Given the description of an element on the screen output the (x, y) to click on. 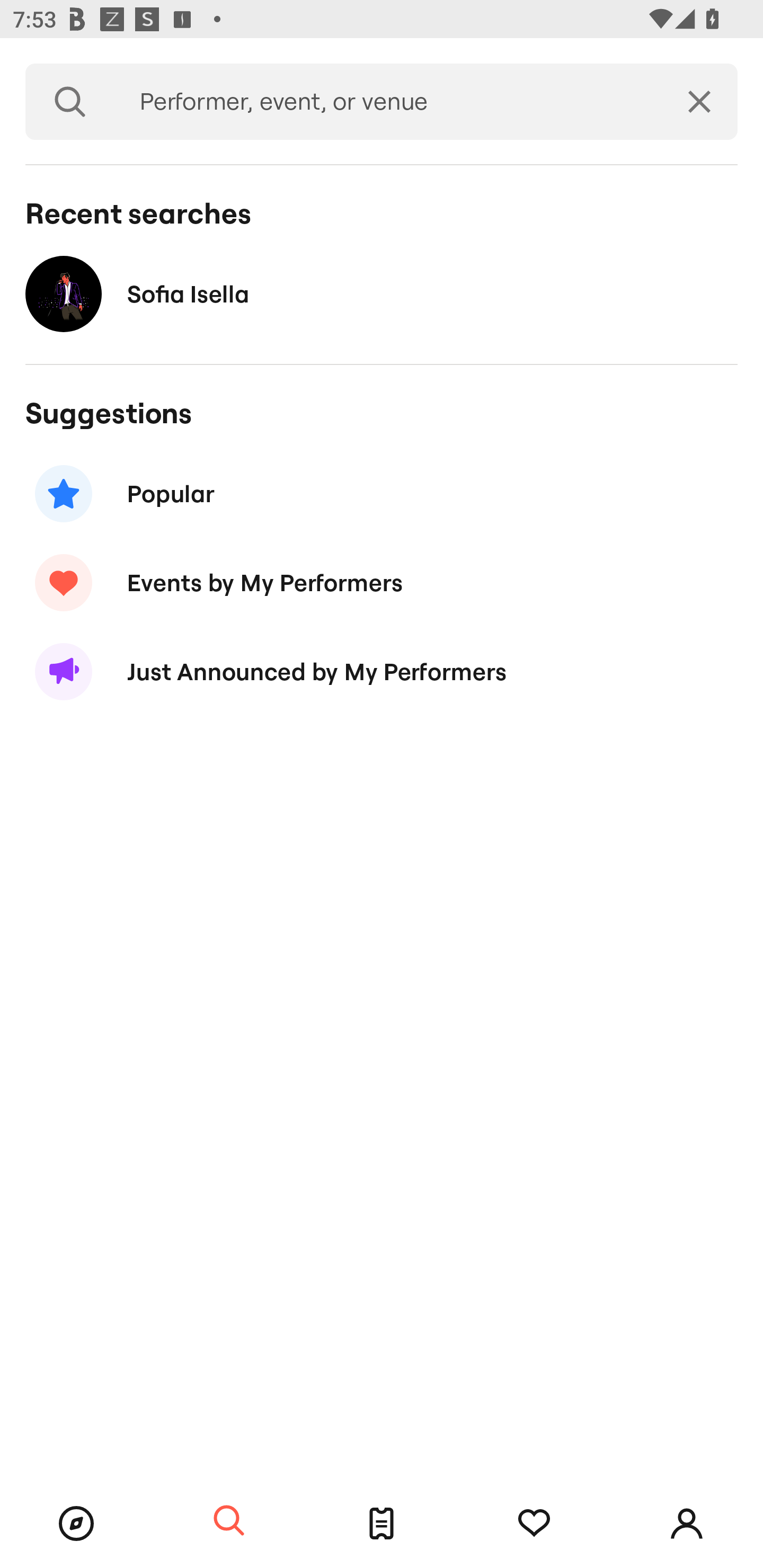
Search (69, 101)
Performer, event, or venue (387, 101)
Clear (699, 101)
Sofia Isella (381, 293)
Popular (381, 492)
Events by My Performers (381, 582)
Just Announced by My Performers (381, 671)
Browse (76, 1523)
Search (228, 1521)
Tickets (381, 1523)
Tracking (533, 1523)
Account (686, 1523)
